Given the description of an element on the screen output the (x, y) to click on. 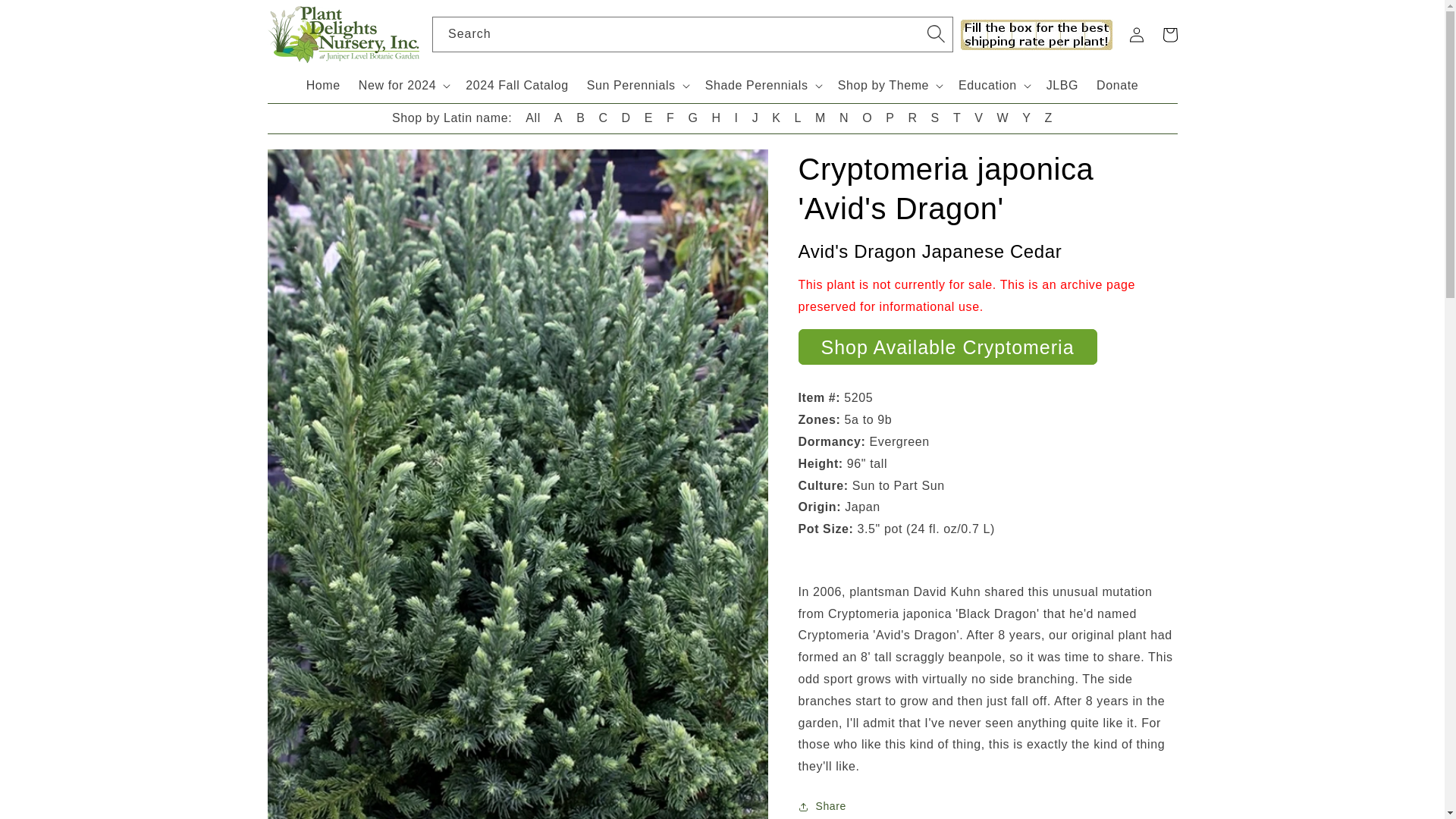
Skip to content (45, 17)
View Cart (1169, 34)
View Account or Log In (1136, 34)
